Given the description of an element on the screen output the (x, y) to click on. 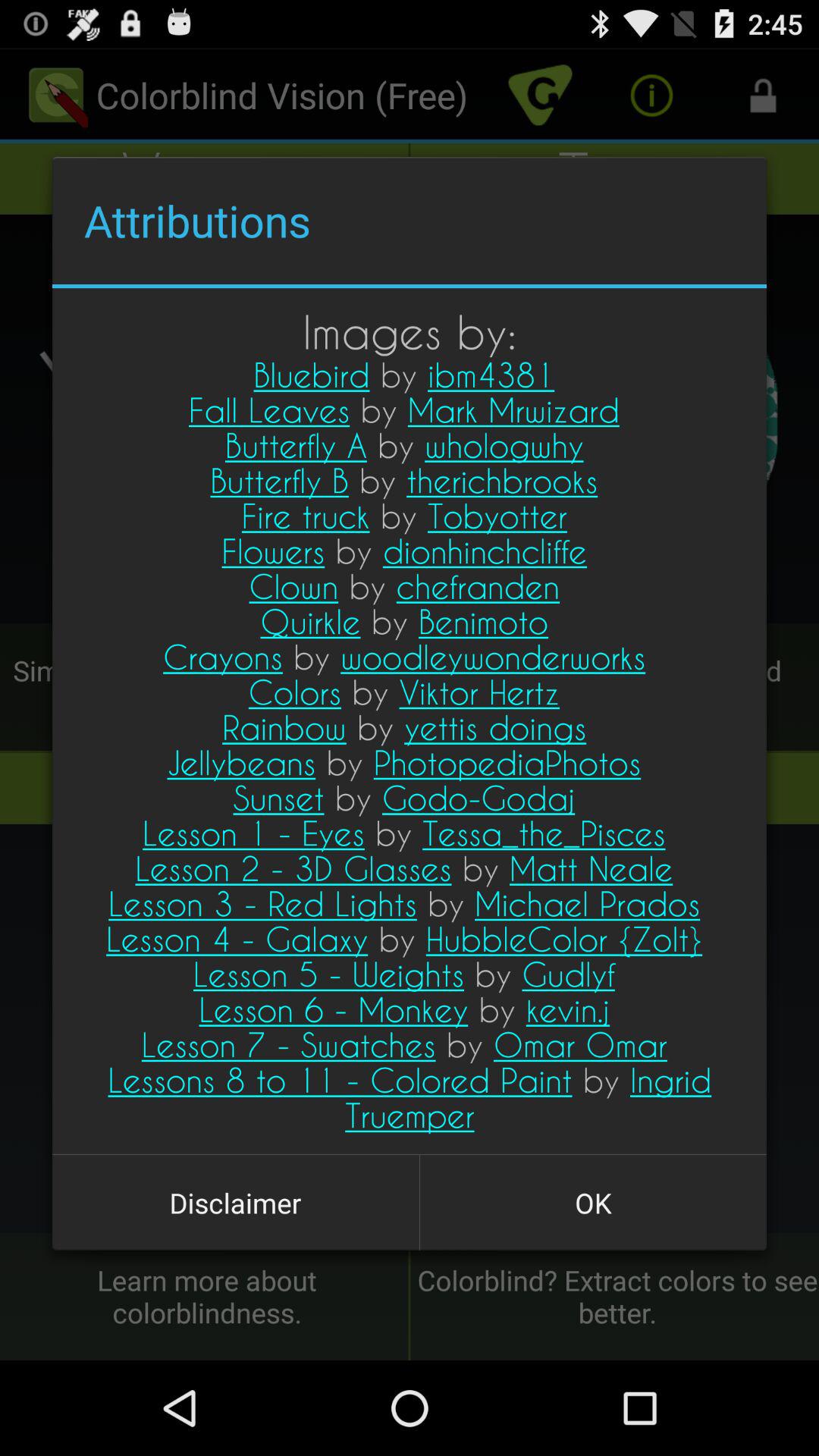
tap item at the bottom left corner (235, 1202)
